Given the description of an element on the screen output the (x, y) to click on. 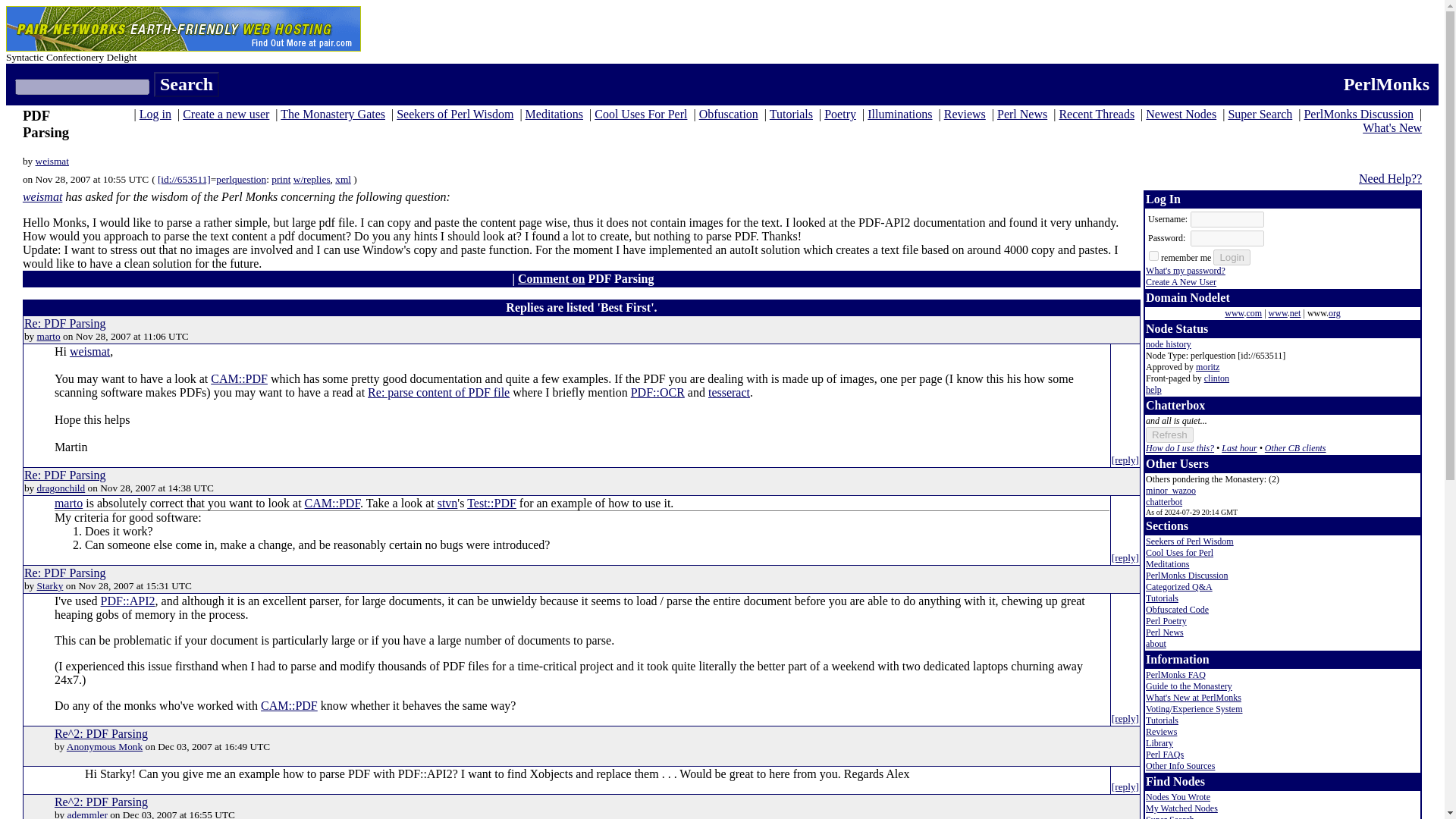
perlquestion (240, 179)
Comment on (551, 278)
Log in (155, 113)
Search (186, 84)
Obfuscation (728, 113)
Perl News (1021, 113)
chatterbot's home node. Level 1 (1163, 501)
Recent Threads (1096, 113)
PerlMonks Discussion (1357, 113)
Re: parse content of PDF file (438, 391)
Create a new user (226, 113)
Poetry (840, 113)
What's New (1392, 127)
CAM::PDF (239, 378)
marto (49, 336)
